Given the description of an element on the screen output the (x, y) to click on. 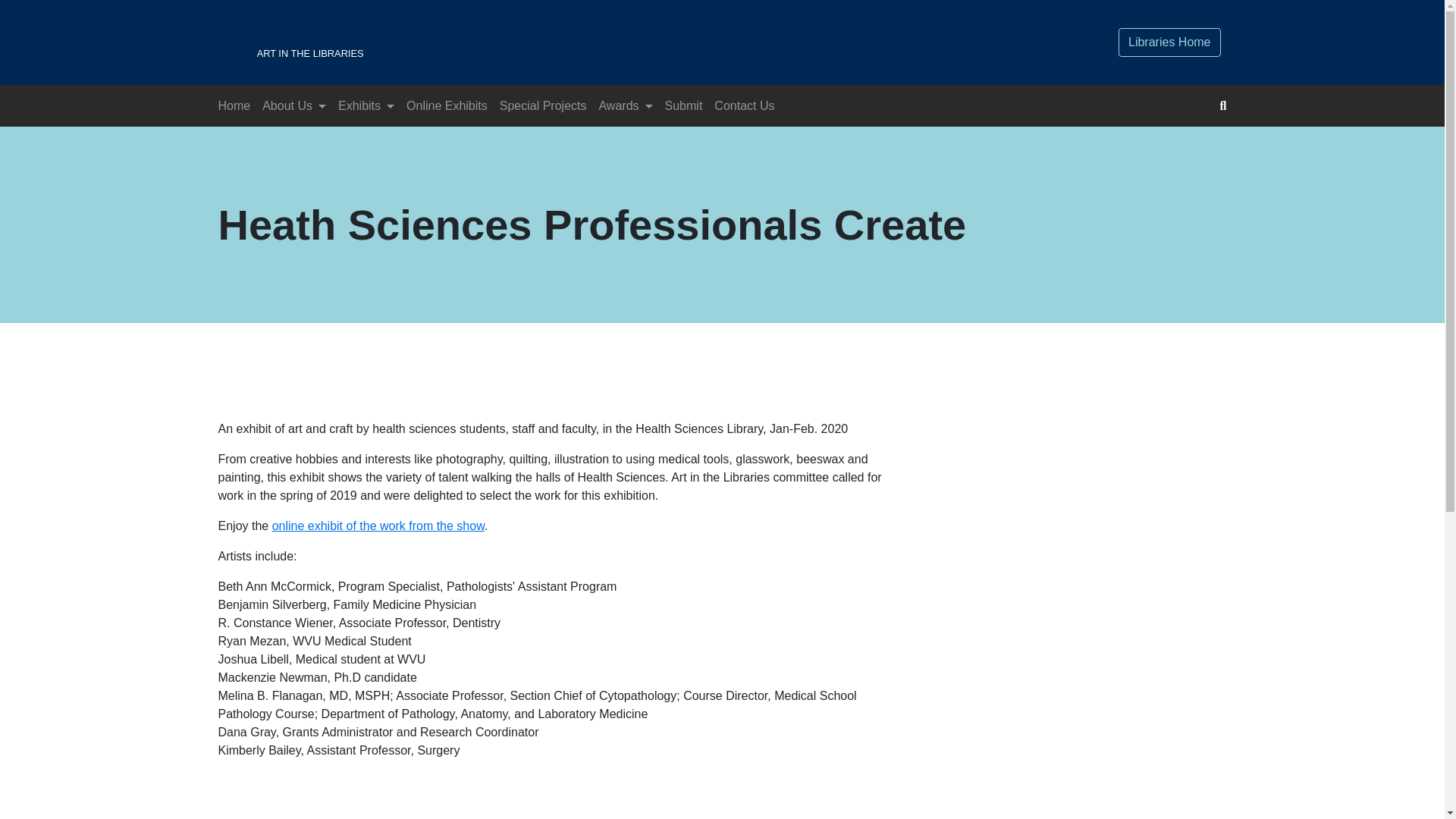
About Us (293, 105)
Exhibits (550, 42)
Submit (365, 105)
Online Exhibits (684, 105)
Contact Us (446, 105)
Special Projects (743, 105)
Home (542, 105)
online exhibit of the work from the show (234, 105)
Libraries Home (378, 525)
Awards (1169, 41)
